Given the description of an element on the screen output the (x, y) to click on. 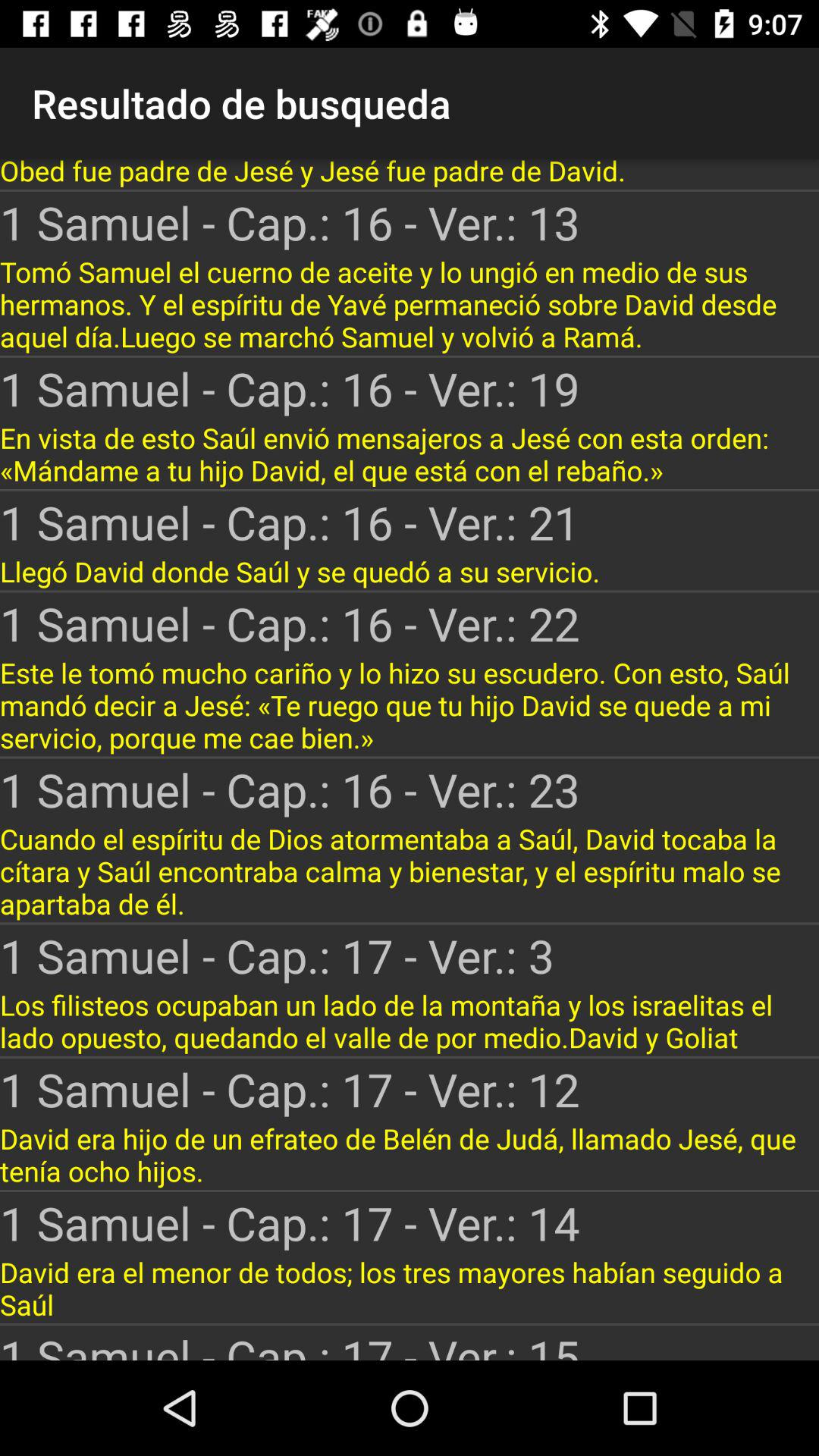
jump to the los filisteos ocupaban item (409, 1021)
